Given the description of an element on the screen output the (x, y) to click on. 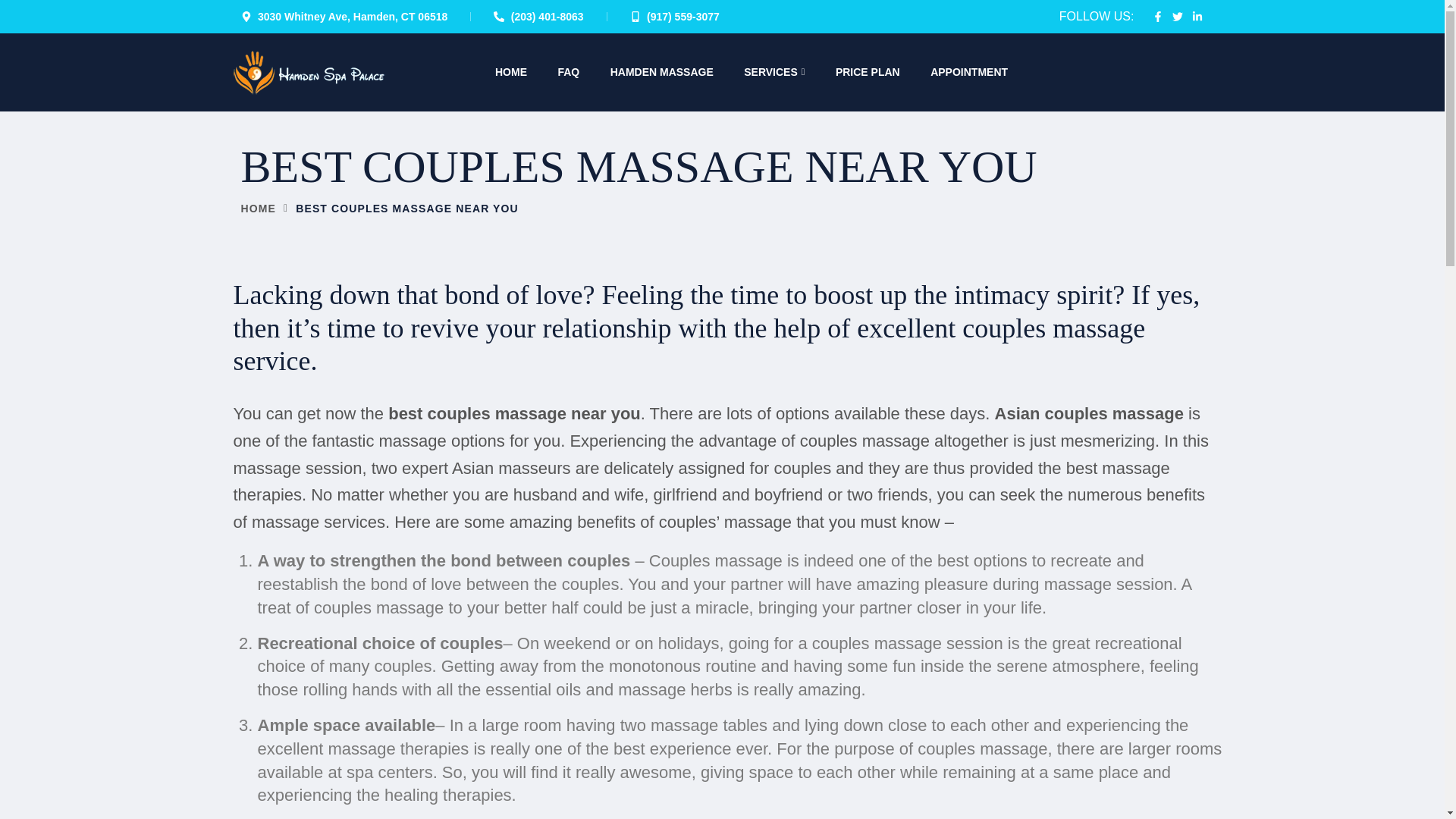
Home (258, 208)
Best Couples Massage Near You (406, 208)
APPOINTMENT (968, 71)
Hamden Massage (308, 72)
HAMDEN MASSAGE (661, 71)
